Given the description of an element on the screen output the (x, y) to click on. 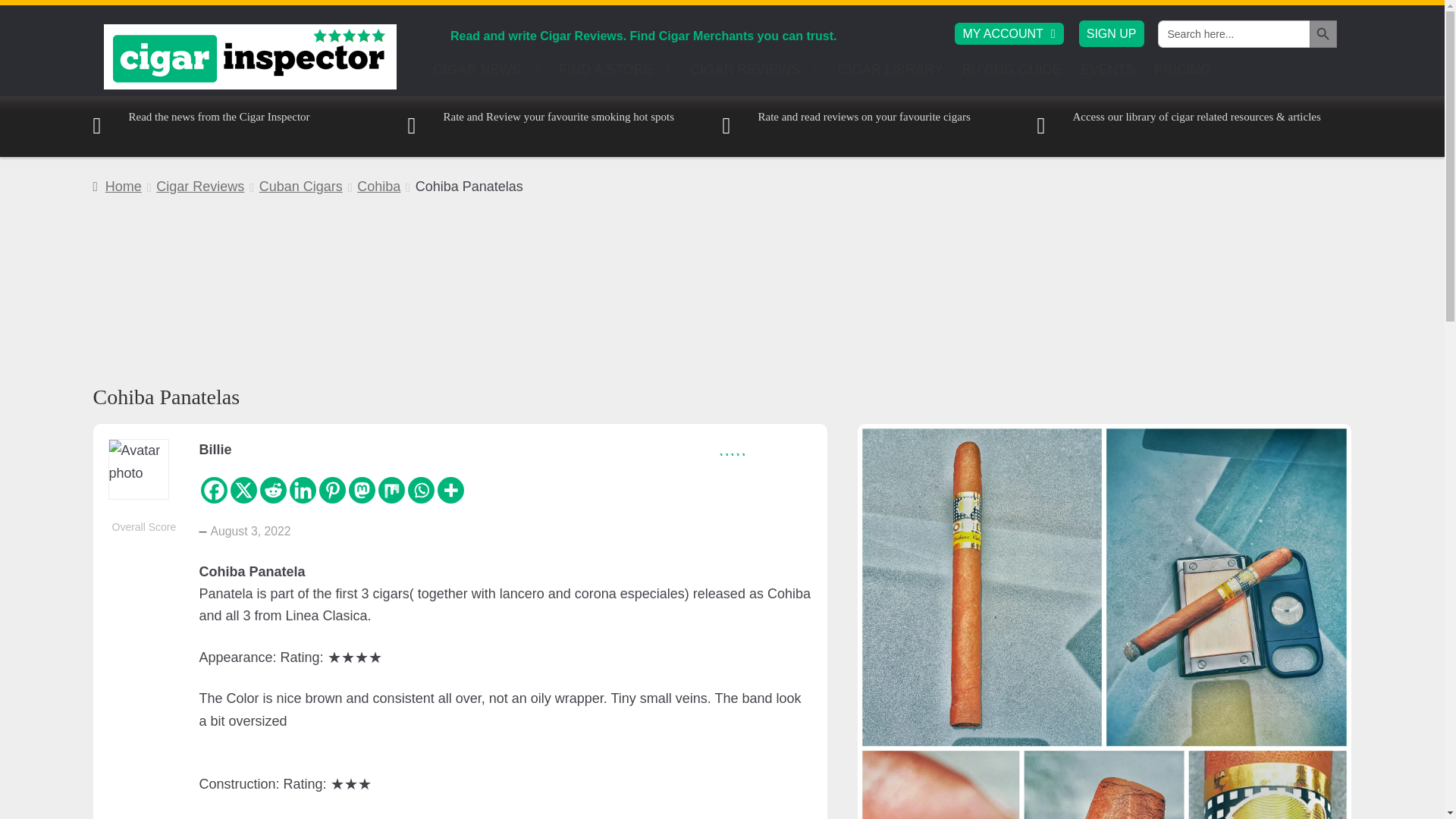
Mastodon (362, 489)
Mix (390, 489)
MY ACCOUNT (1008, 33)
Linkedin (302, 489)
CIGAR NEWS (487, 73)
PRICING (1182, 73)
Read the news from the Cigar Inspector (200, 125)
Rate and Review your favourite smoking hot spots (541, 125)
SIGN UP (1111, 33)
CIGAR LIBRARY (889, 73)
